Given the description of an element on the screen output the (x, y) to click on. 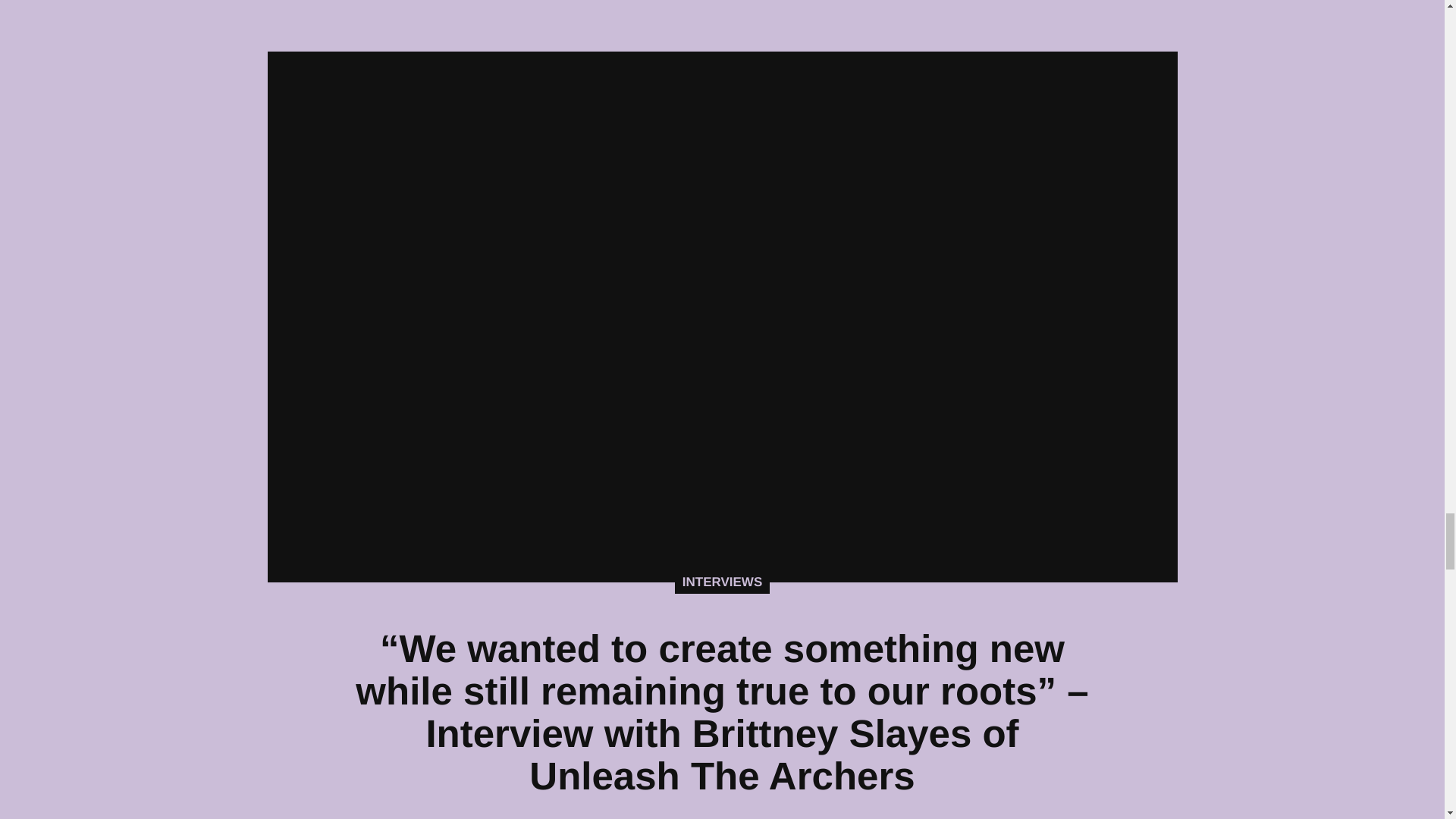
INTERVIEWS (722, 581)
